Given the description of an element on the screen output the (x, y) to click on. 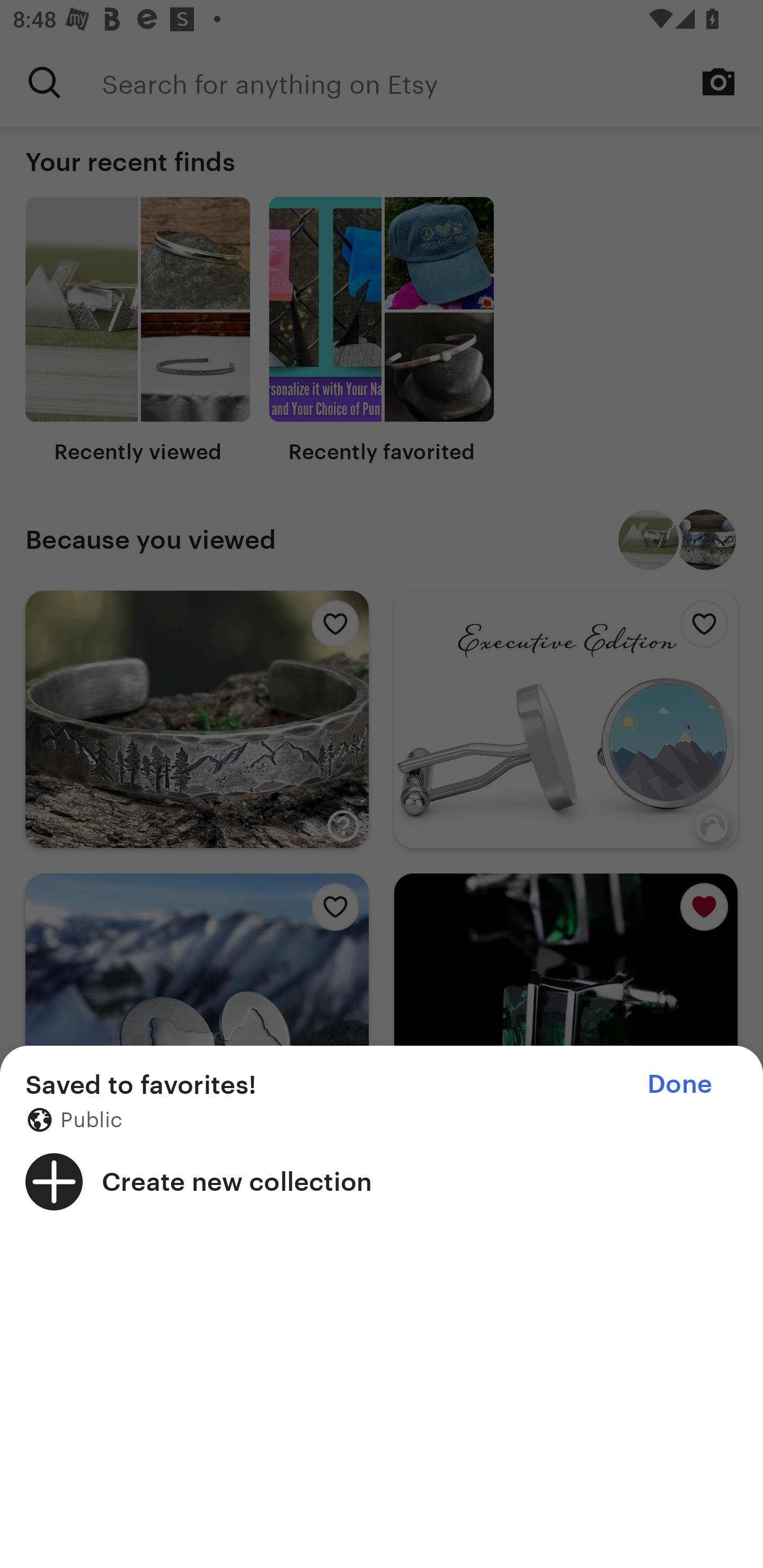
Done (679, 1083)
Create new collection (381, 1181)
